Given the description of an element on the screen output the (x, y) to click on. 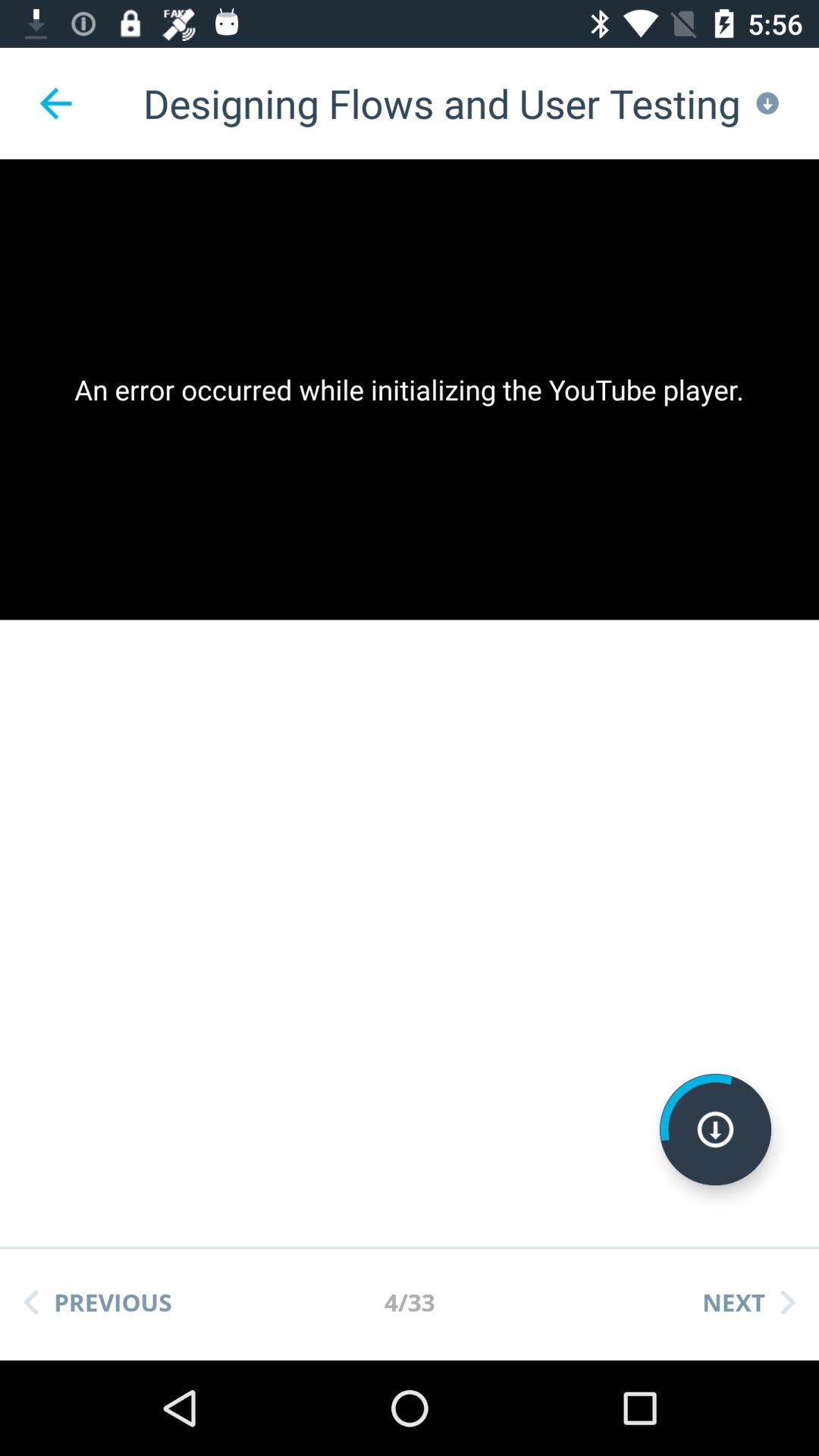
open the icon to the left of the 4/33 (97, 1302)
